Given the description of an element on the screen output the (x, y) to click on. 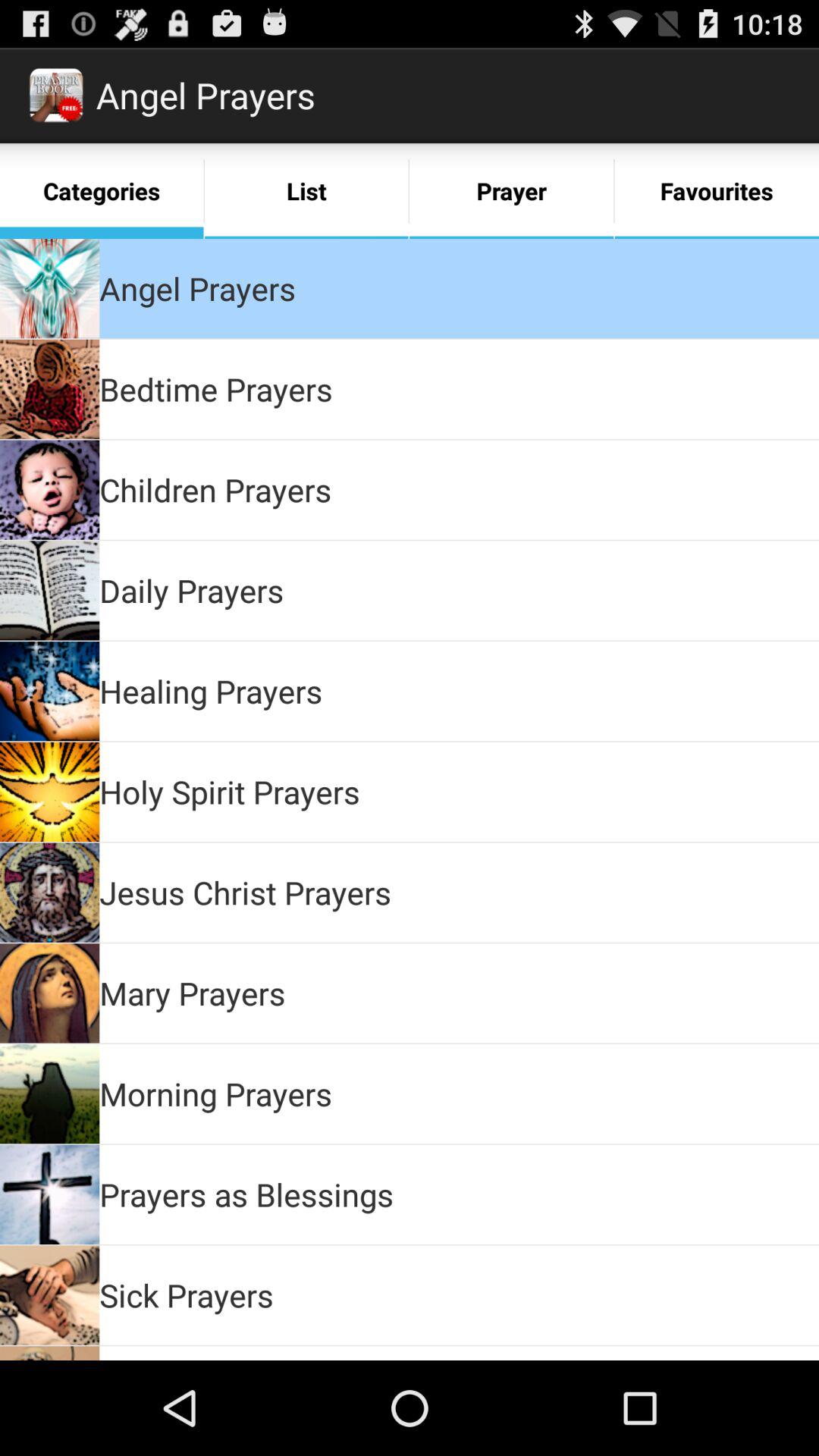
choose sick prayers (186, 1294)
